Given the description of an element on the screen output the (x, y) to click on. 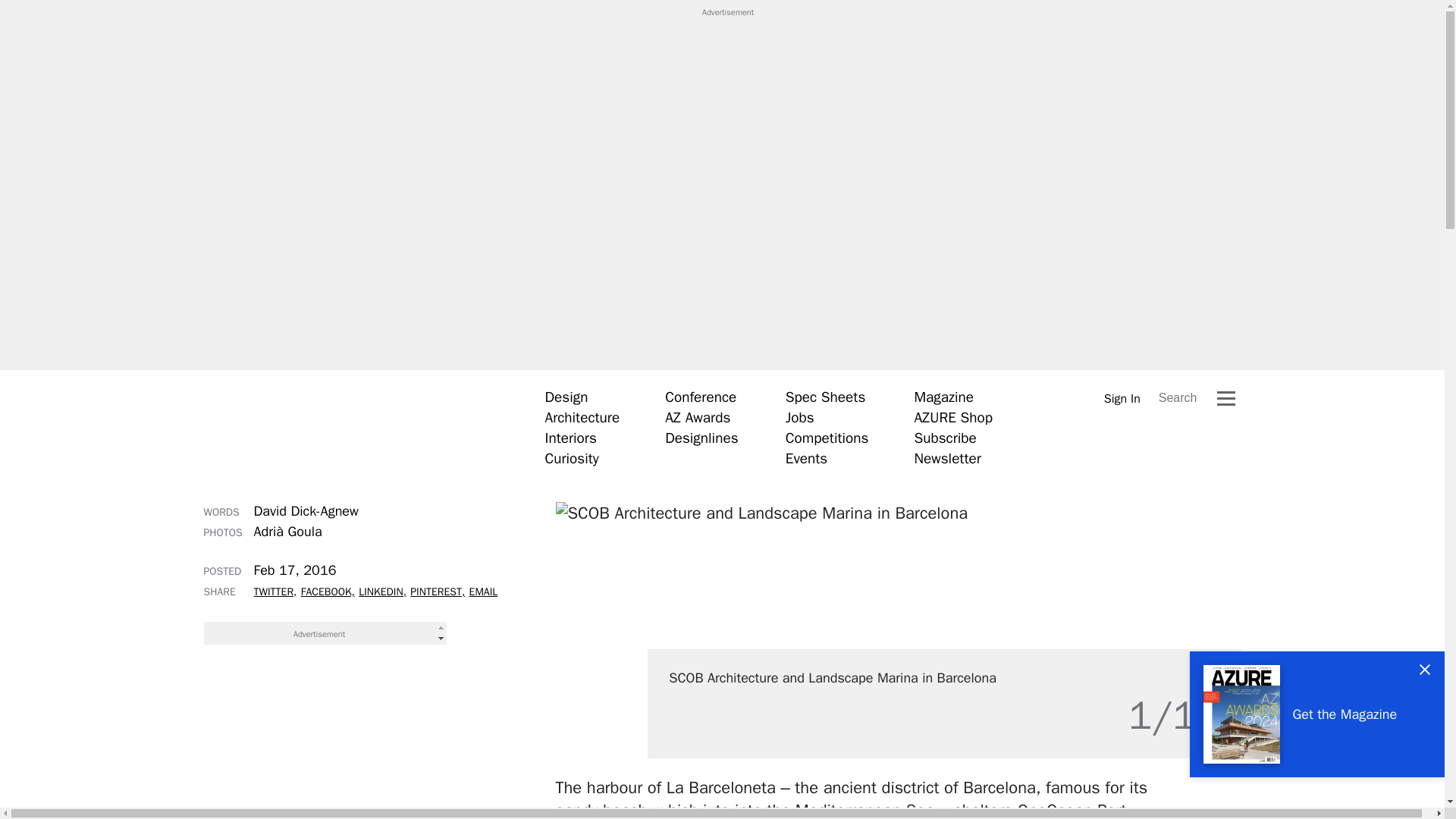
Designlines (701, 438)
Search (1178, 397)
Newsletter (946, 458)
Sign In (1122, 398)
Magazine (944, 397)
Architecture (582, 417)
Interiors (569, 438)
Competitions (827, 438)
Events (806, 458)
Spec Sheets (825, 397)
Jobs (799, 417)
AZURE Shop (953, 417)
Conference (700, 397)
Azure Magazine (351, 426)
Design (566, 397)
